Given the description of an element on the screen output the (x, y) to click on. 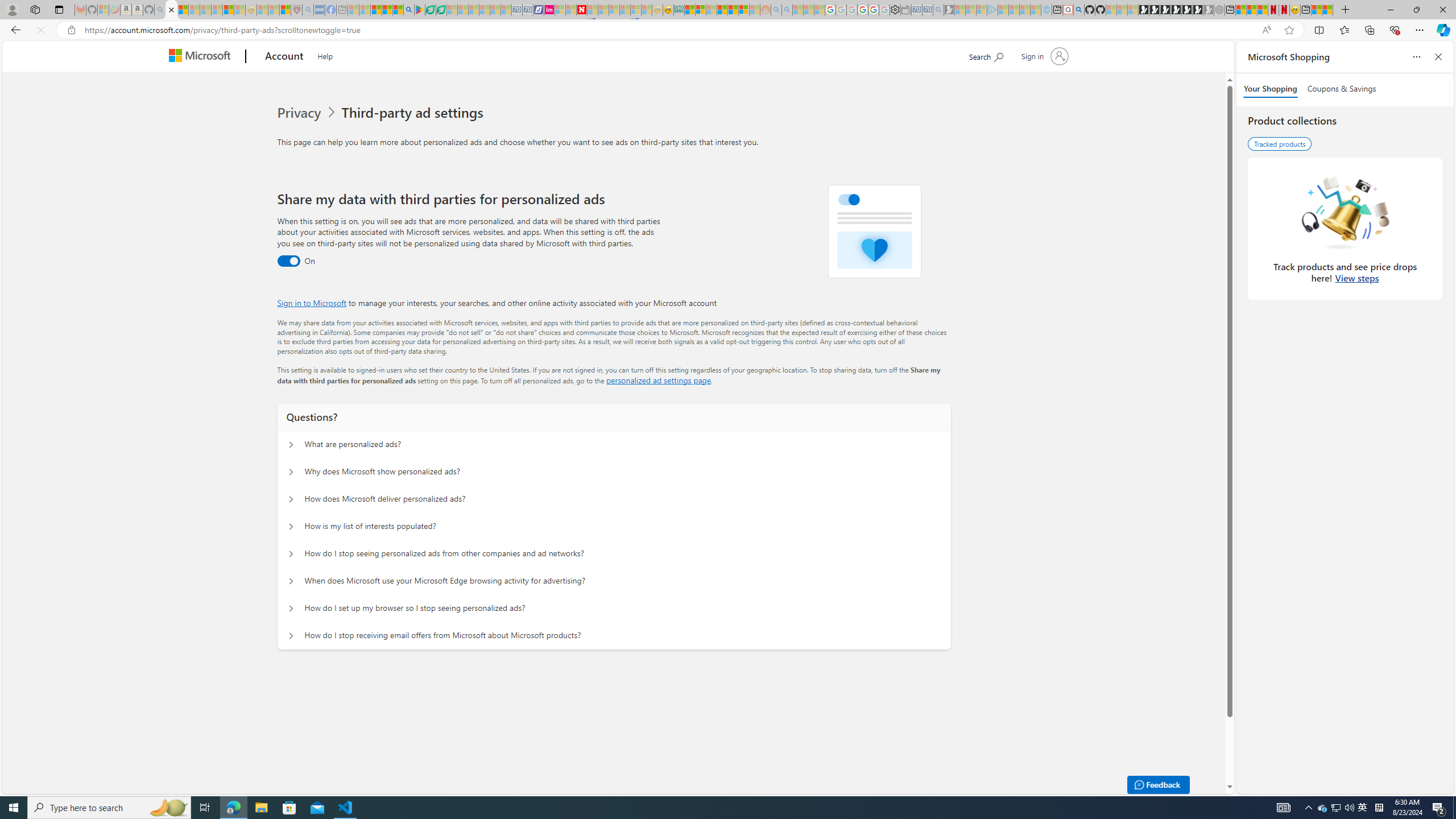
Jobs - lastminute.com Investor Portal (548, 9)
Sign in to your account (1043, 55)
Third party data sharing toggle (287, 260)
